Given the description of an element on the screen output the (x, y) to click on. 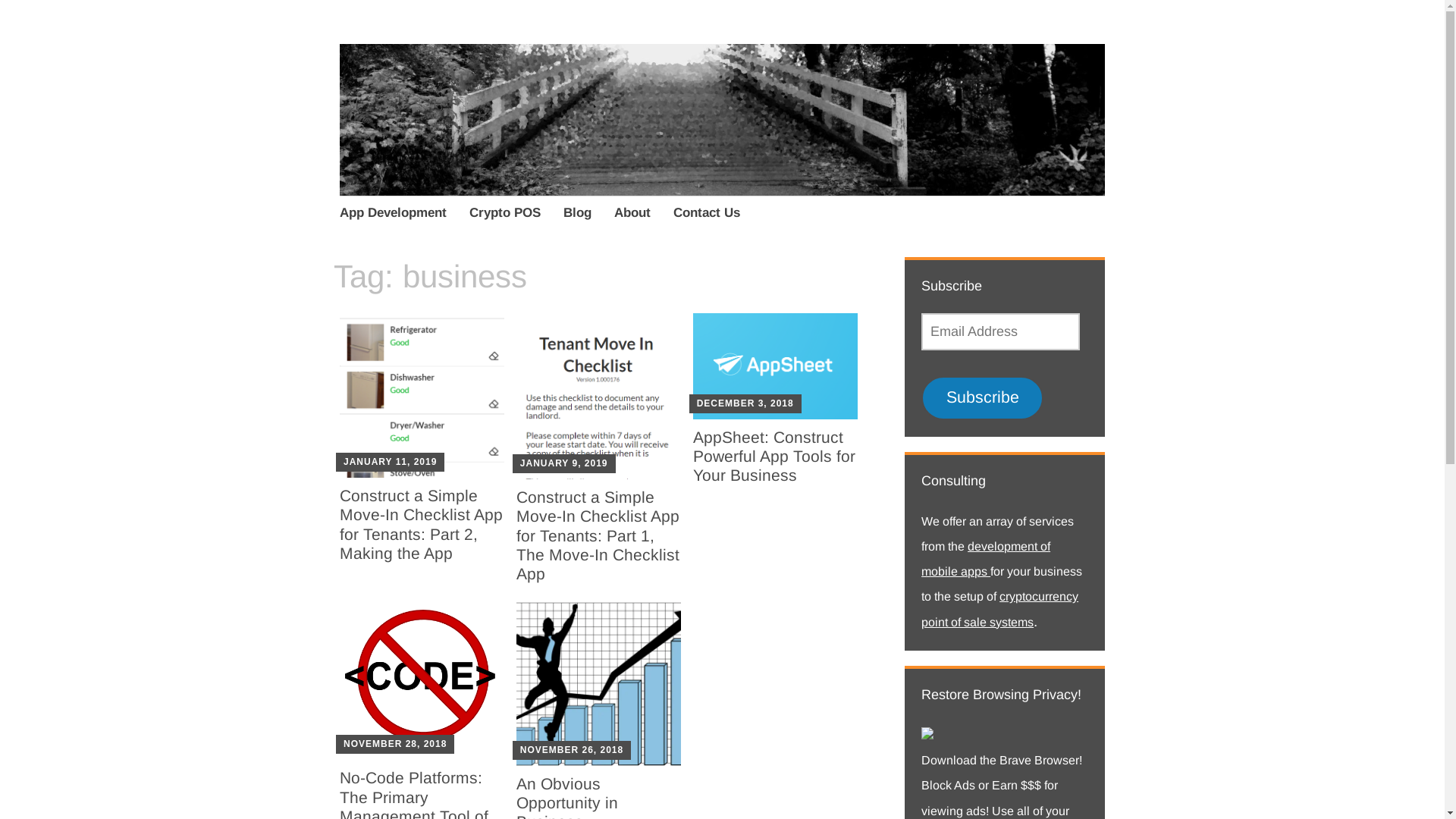
Skip to content Element type: text (338, 196)
CryptoCoach Element type: text (462, 100)
Contact Us Element type: text (706, 214)
AppSheet: Construct Powerful App Tools for Your Business Element type: text (774, 455)
Blog Element type: text (577, 214)
AppSheet: Construct Powerful App Tools for Your Business Element type: hover (775, 366)
NOVEMBER 28, 2018 Element type: text (394, 743)
Crypto POS Element type: text (504, 214)
App Development Element type: text (392, 214)
Search Element type: text (173, 17)
JANUARY 9, 2019 Element type: text (564, 463)
About Element type: text (632, 214)
JANUARY 11, 2019 Element type: text (389, 461)
An Obvious Opportunity in Business Management: Part 1 Element type: hover (598, 682)
cryptocurrency point of sale systems Element type: text (999, 608)
development of mobile apps Element type: text (985, 558)
NOVEMBER 26, 2018 Element type: text (571, 749)
Subscribe Element type: text (982, 398)
DECEMBER 3, 2018 Element type: text (744, 403)
